Given the description of an element on the screen output the (x, y) to click on. 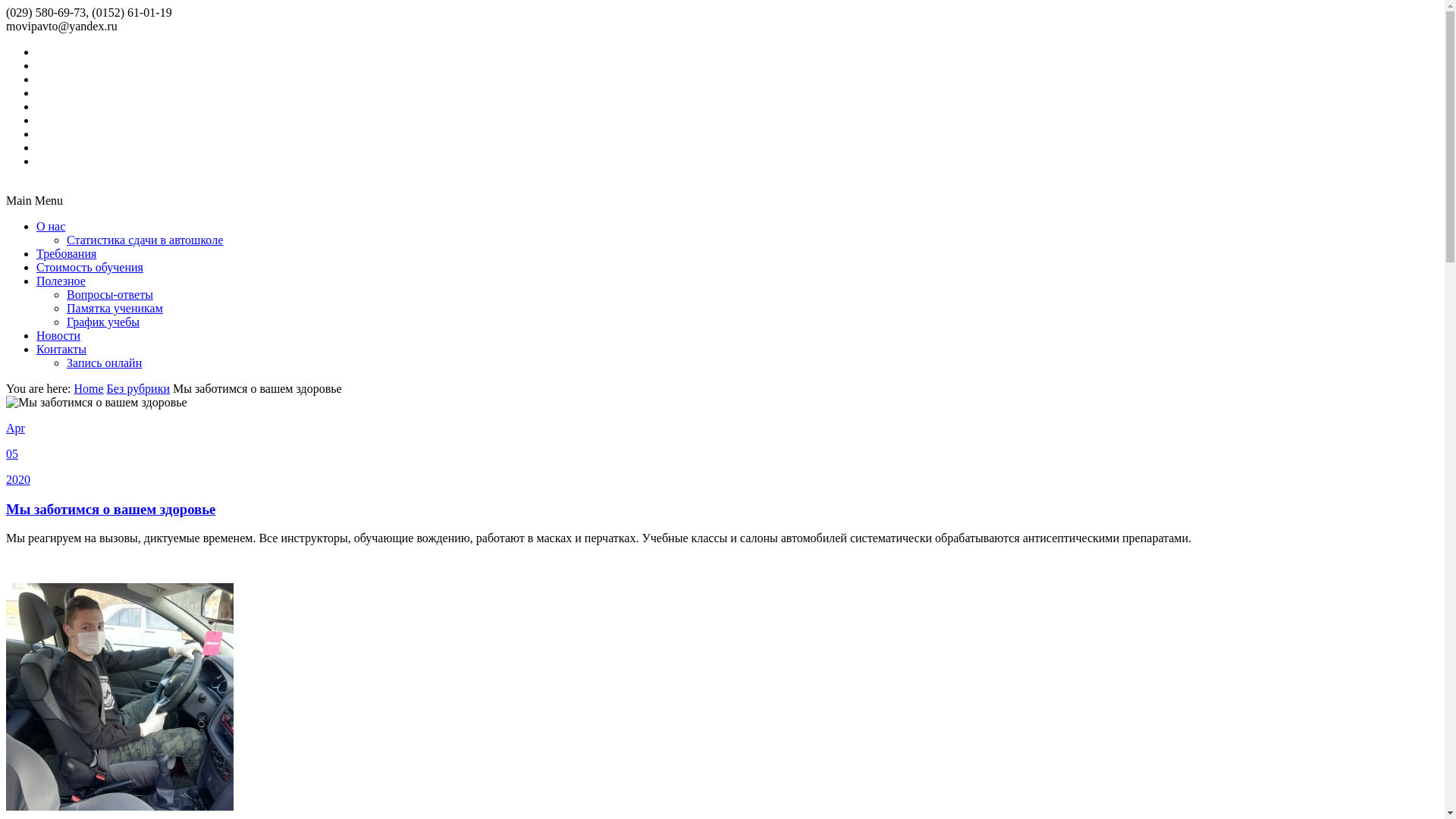
Home Element type: text (88, 388)
Apr
05
2020 Element type: text (722, 453)
